Given the description of an element on the screen output the (x, y) to click on. 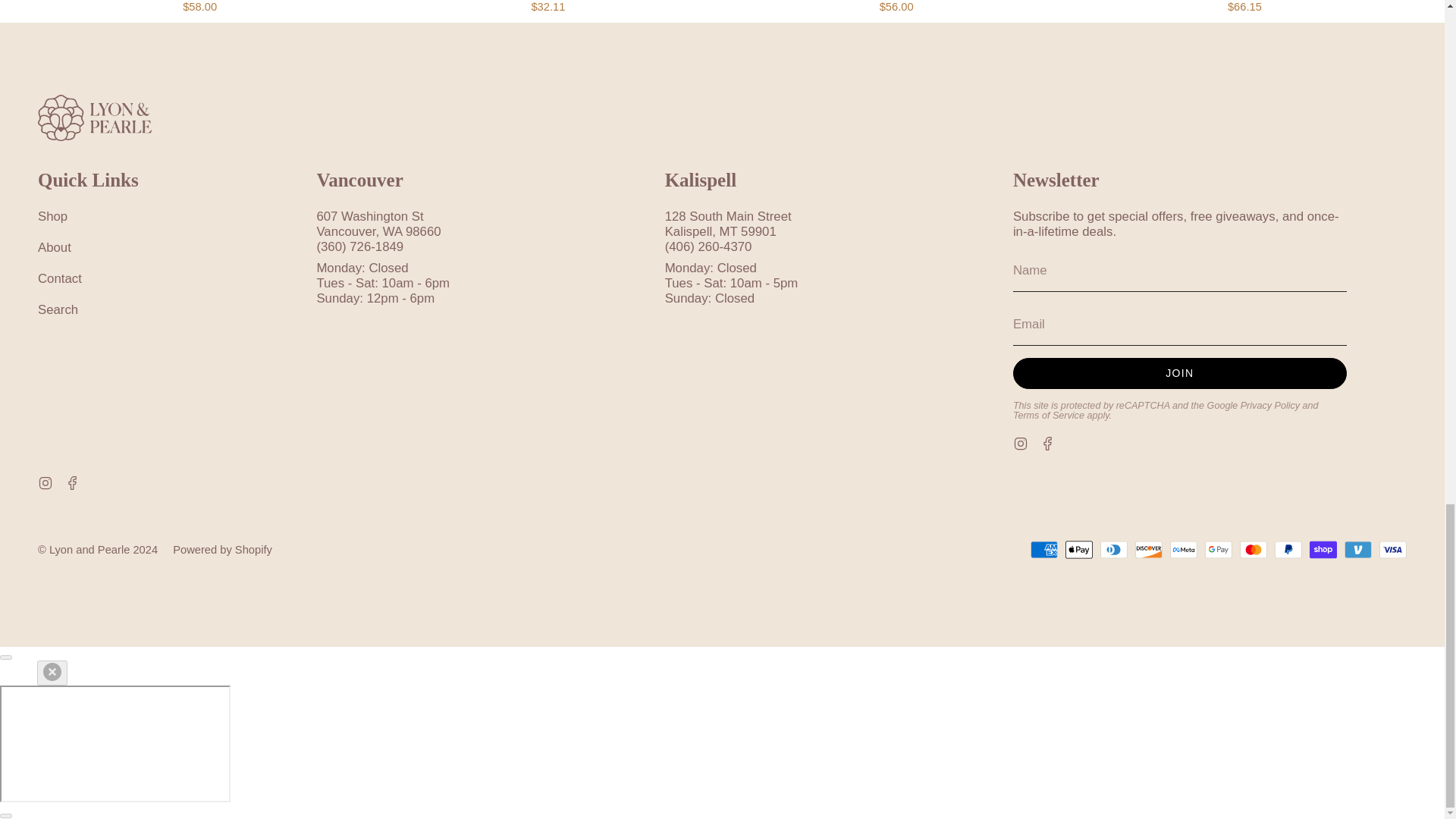
Lyon and Pearle on Facebook (1048, 441)
Lyon and Pearle on Instagram (1020, 441)
Lyon and Pearle on Facebook (72, 482)
Lyon and Pearle on Instagram (44, 482)
